Given the description of an element on the screen output the (x, y) to click on. 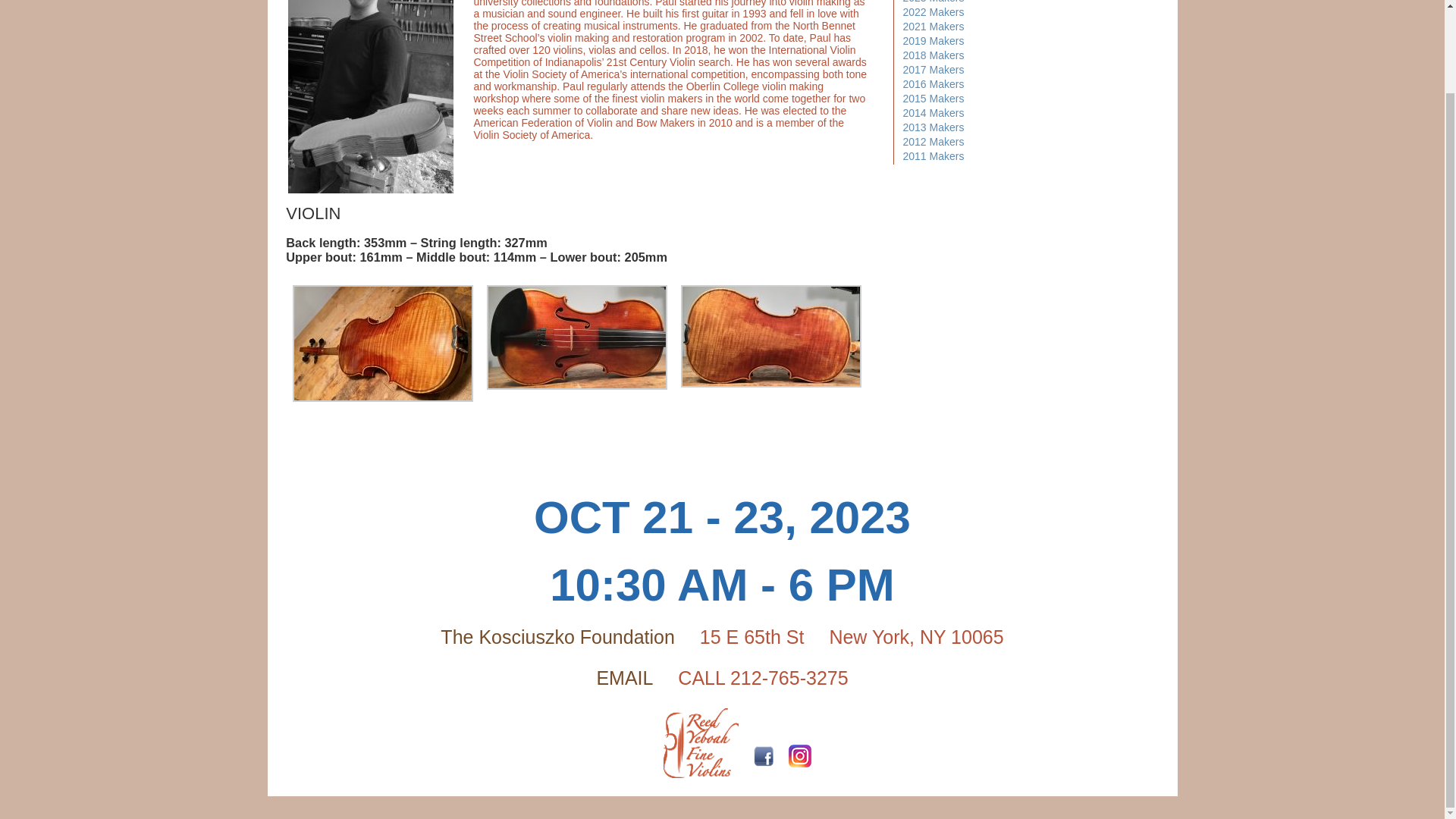
2015 Makers (932, 98)
2018 Makers (932, 55)
2019 Makers (932, 40)
2014 Makers (932, 112)
2023 Makers (932, 2)
2011 Makers (932, 155)
2012 Makers (932, 141)
EMAIL (623, 677)
2013 Makers (932, 127)
Reed Yeboah Fine Violins LLC (700, 746)
2022 Makers (932, 11)
The Kosciuszko Foundation (558, 636)
2021 Makers (932, 26)
2016 Makers (932, 83)
2017 Makers (932, 69)
